Given the description of an element on the screen output the (x, y) to click on. 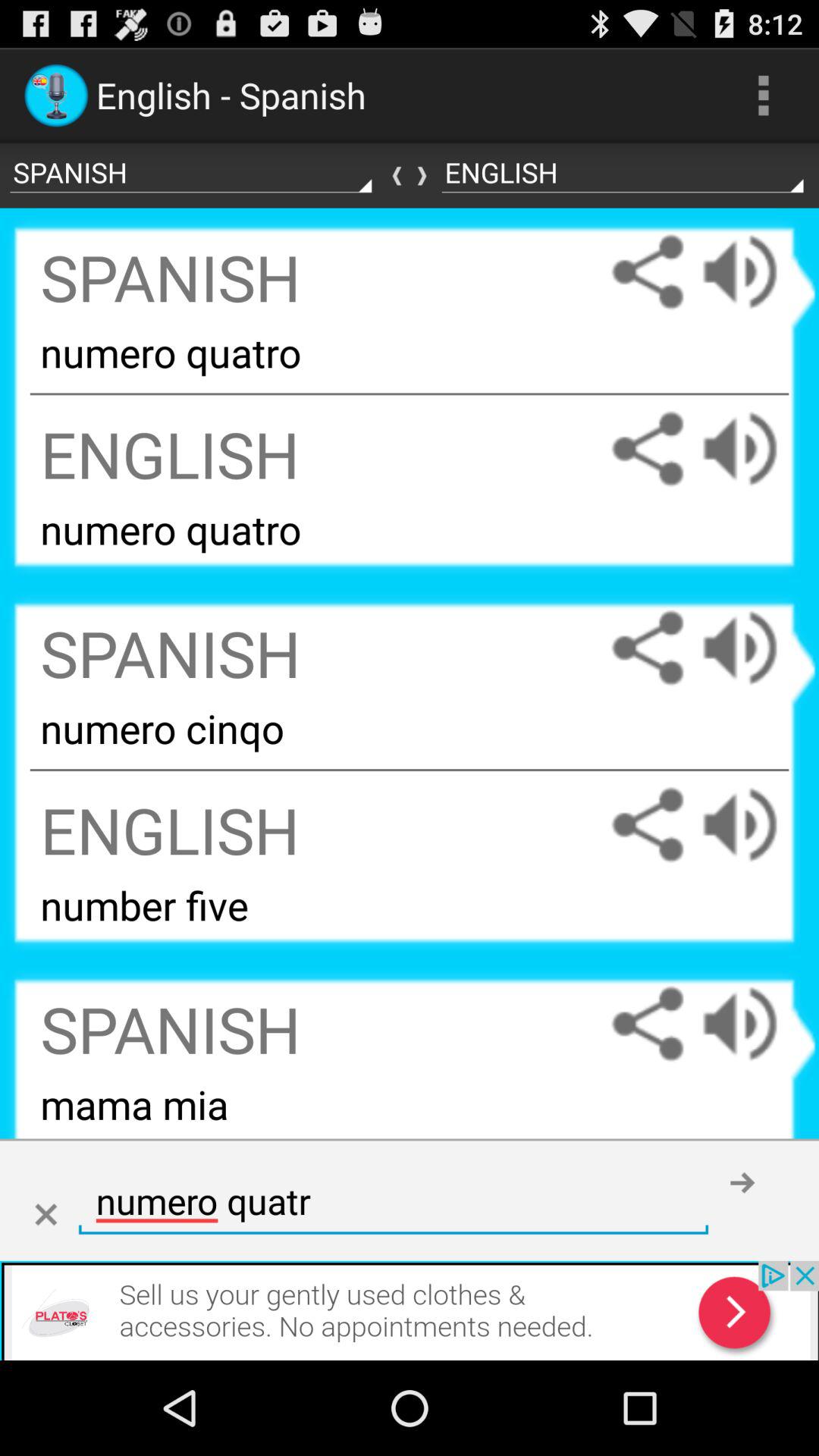
toggle sound (754, 647)
